Given the description of an element on the screen output the (x, y) to click on. 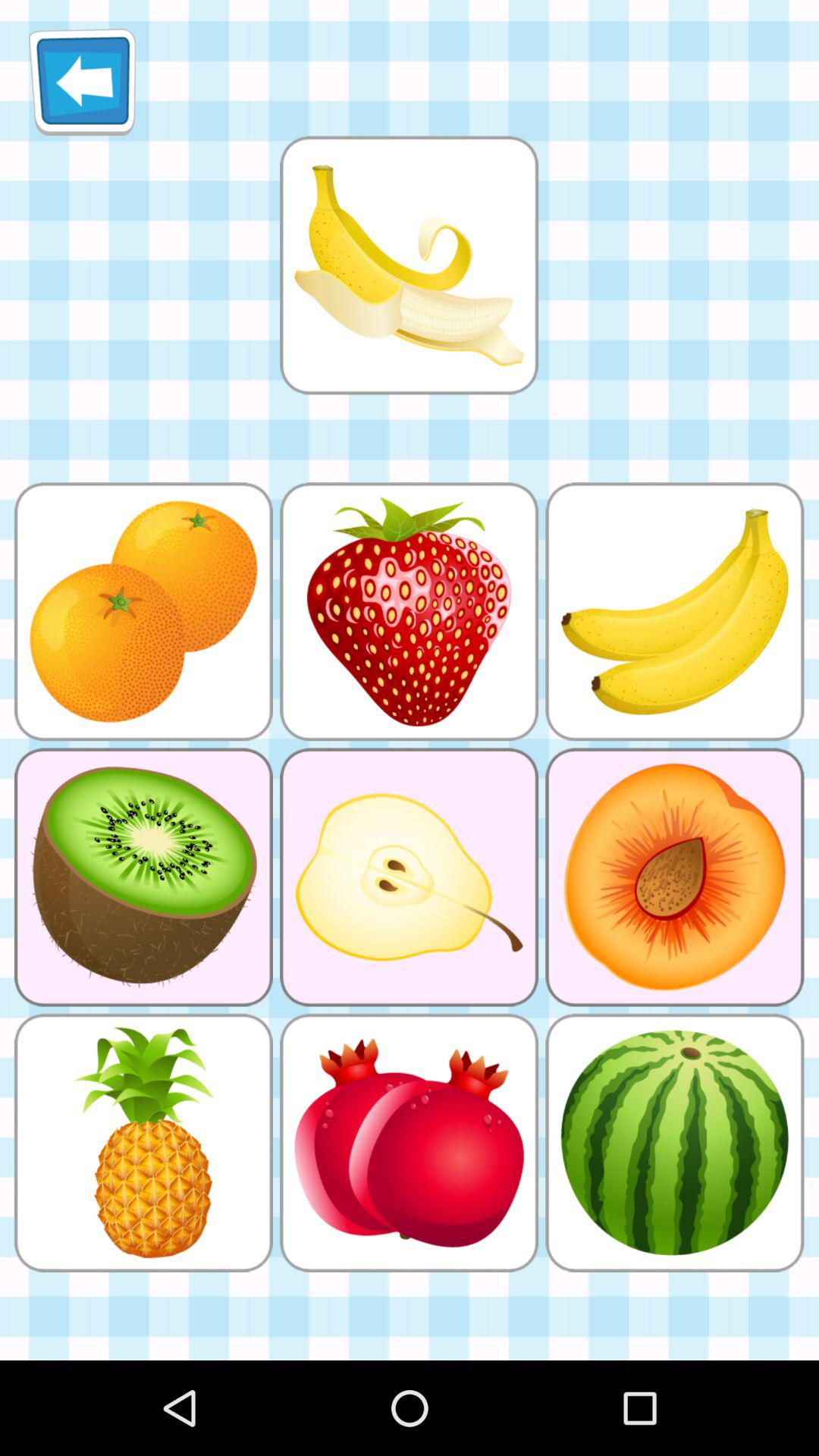
banana friuts (409, 265)
